Given the description of an element on the screen output the (x, y) to click on. 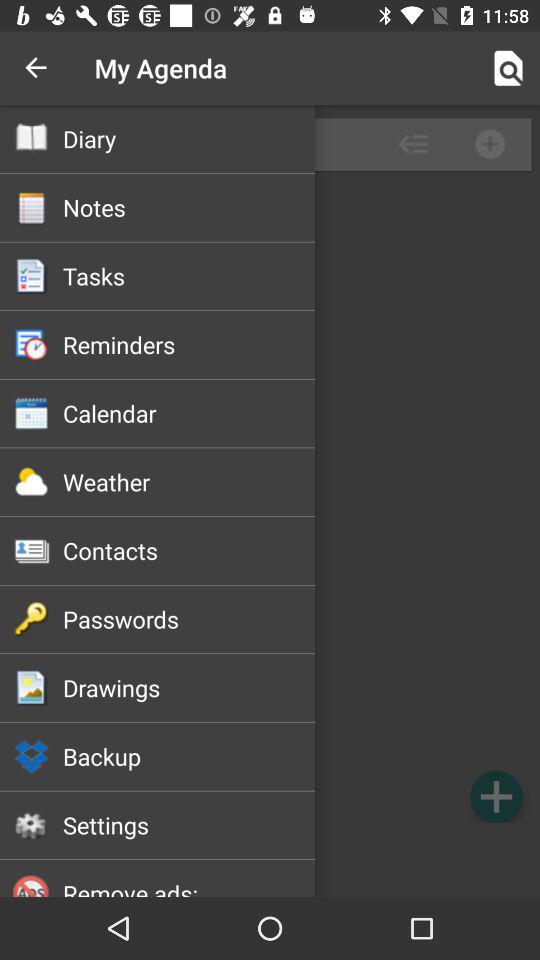
open passwords item (188, 619)
